Given the description of an element on the screen output the (x, y) to click on. 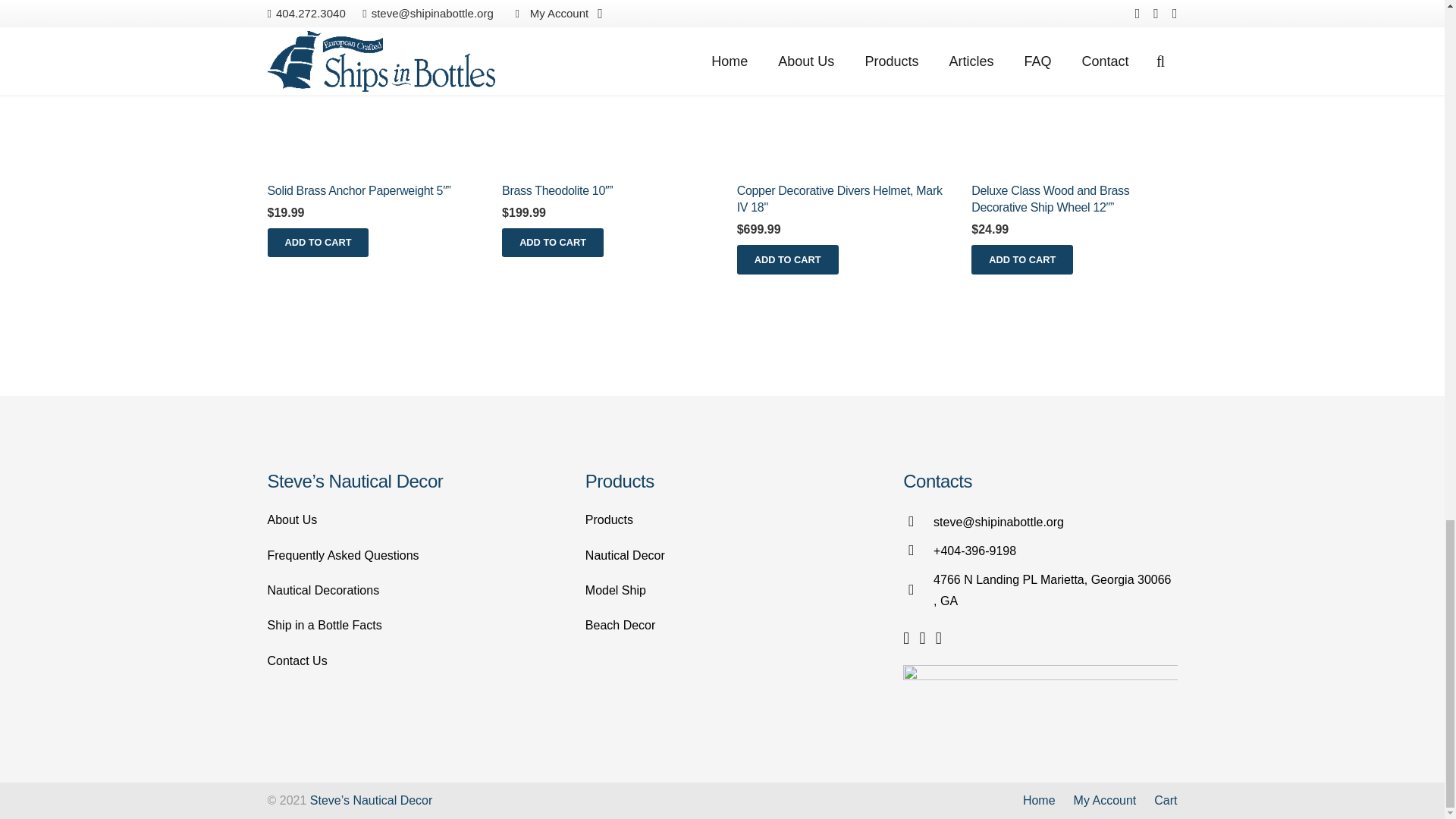
ADD TO CART (553, 242)
ADD TO CART (317, 242)
